Given the description of an element on the screen output the (x, y) to click on. 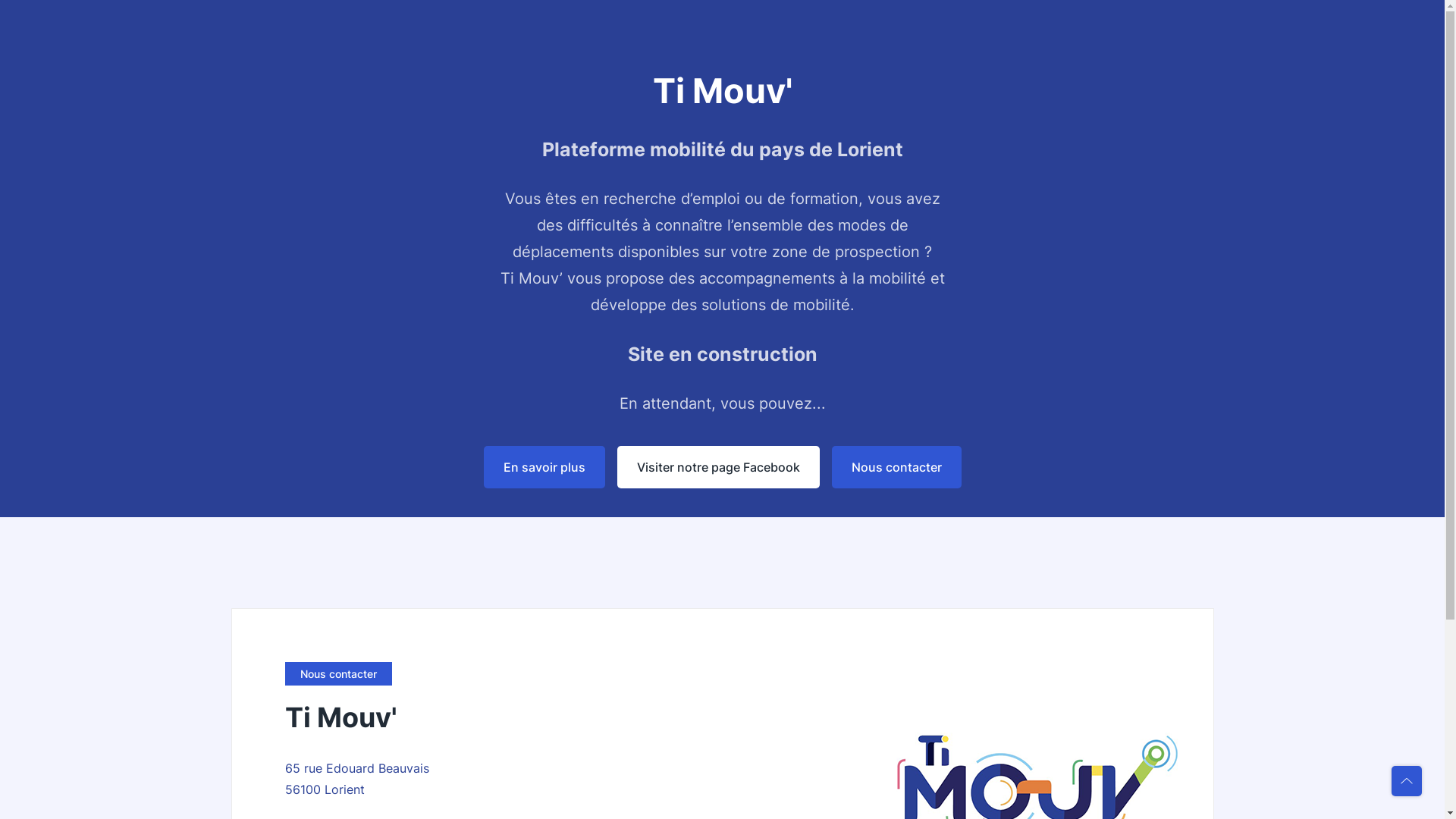
En savoir plus Element type: text (544, 466)
Nous contacter Element type: text (895, 466)
Visiter notre page Facebook Element type: text (718, 466)
